Given the description of an element on the screen output the (x, y) to click on. 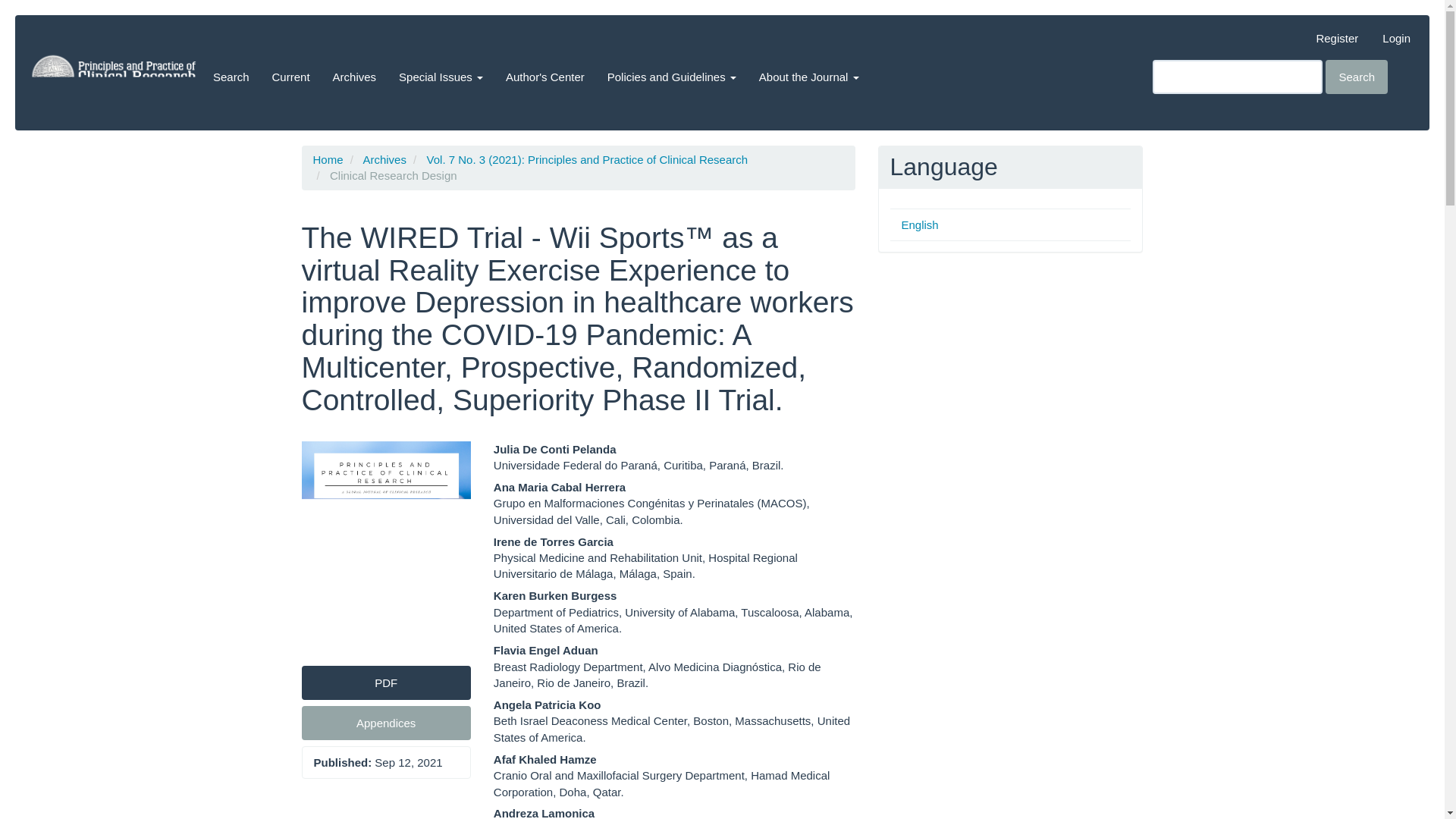
Archives (384, 159)
Archives (354, 76)
PDF (385, 682)
Home (327, 159)
About the Journal (809, 76)
Policies and Guidelines (671, 76)
Login (1396, 38)
Appendices (385, 722)
Search (231, 76)
Author's Center (545, 76)
